Given the description of an element on the screen output the (x, y) to click on. 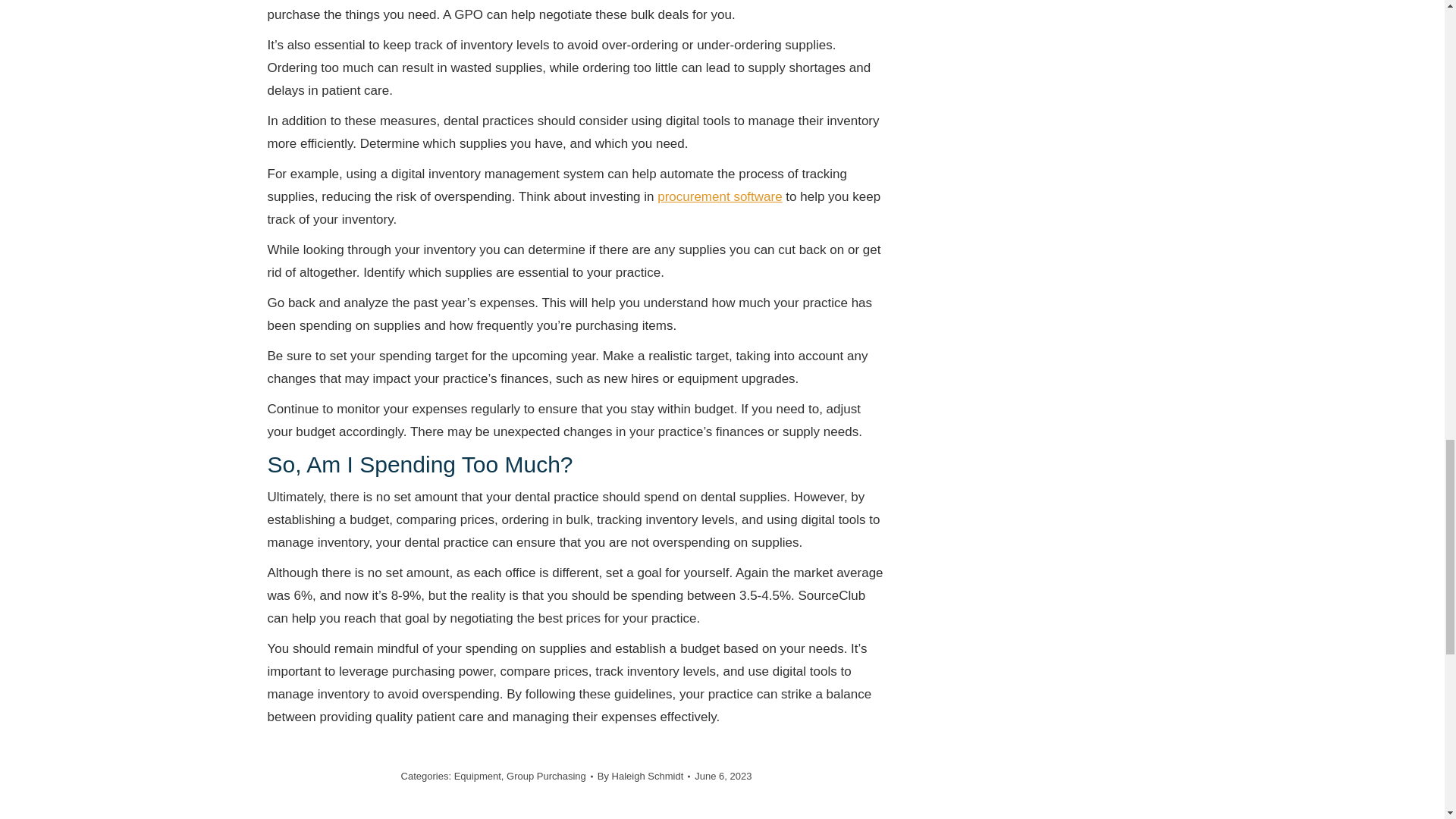
3:02 pm (722, 775)
By Haleigh Schmidt (643, 775)
View all posts by Haleigh Schmidt (643, 775)
procurement software (719, 196)
Group Purchasing (546, 776)
June 6, 2023 (722, 775)
Equipment (477, 776)
